Given the description of an element on the screen output the (x, y) to click on. 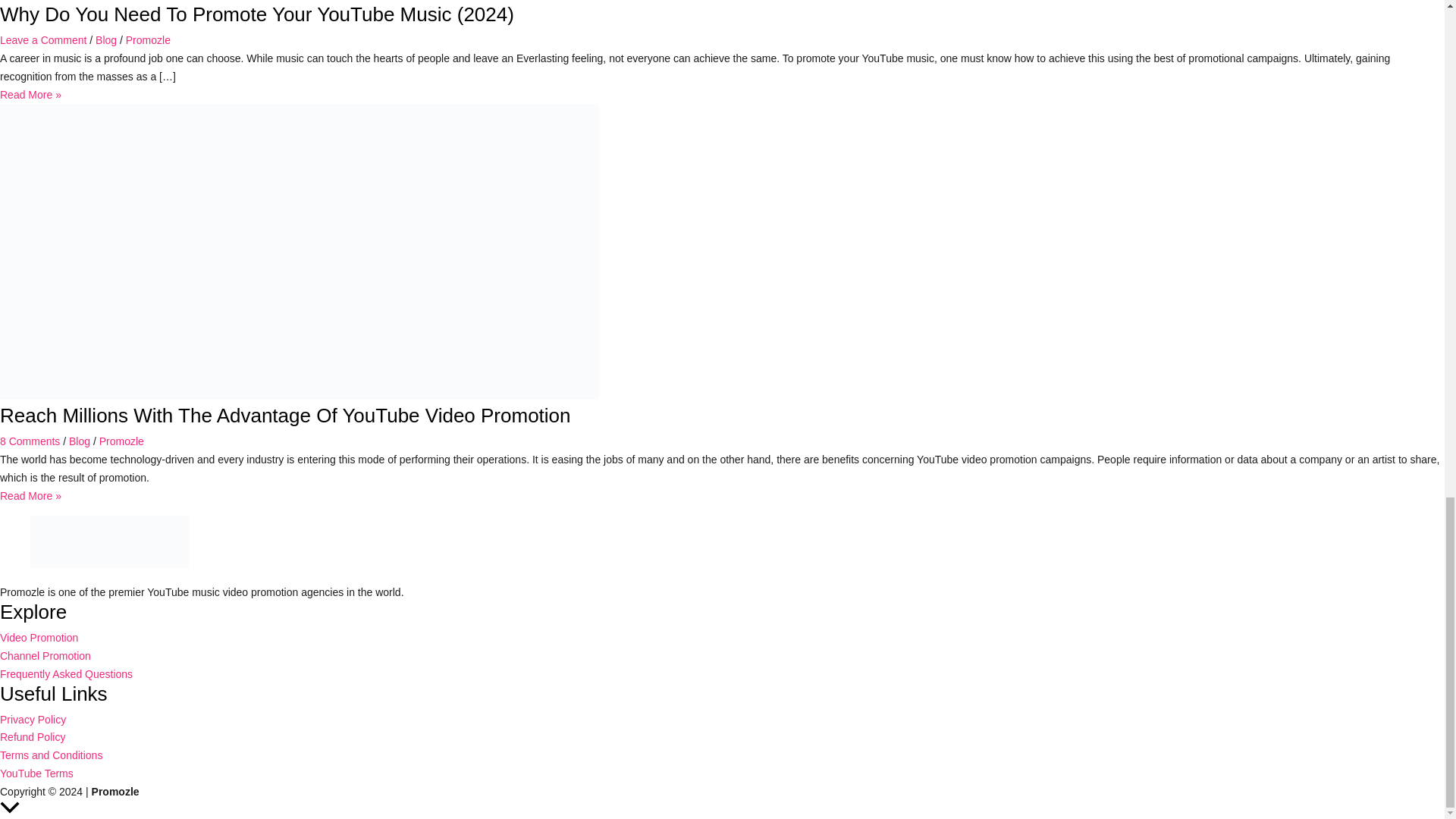
Frequently Asked Questions (66, 674)
Terms and Conditions (50, 755)
Video Promotion (39, 637)
Promozle (147, 39)
View all posts by Promozle (121, 440)
Blog (79, 440)
Reach Millions With The Advantage Of YouTube Video Promotion (285, 415)
Promozle (121, 440)
Leave a Comment (42, 39)
Privacy Policy (32, 719)
8 Comments (29, 440)
YouTube Terms (37, 773)
Refund Policy (32, 736)
Blog (106, 39)
Channel Promotion (45, 655)
